Given the description of an element on the screen output the (x, y) to click on. 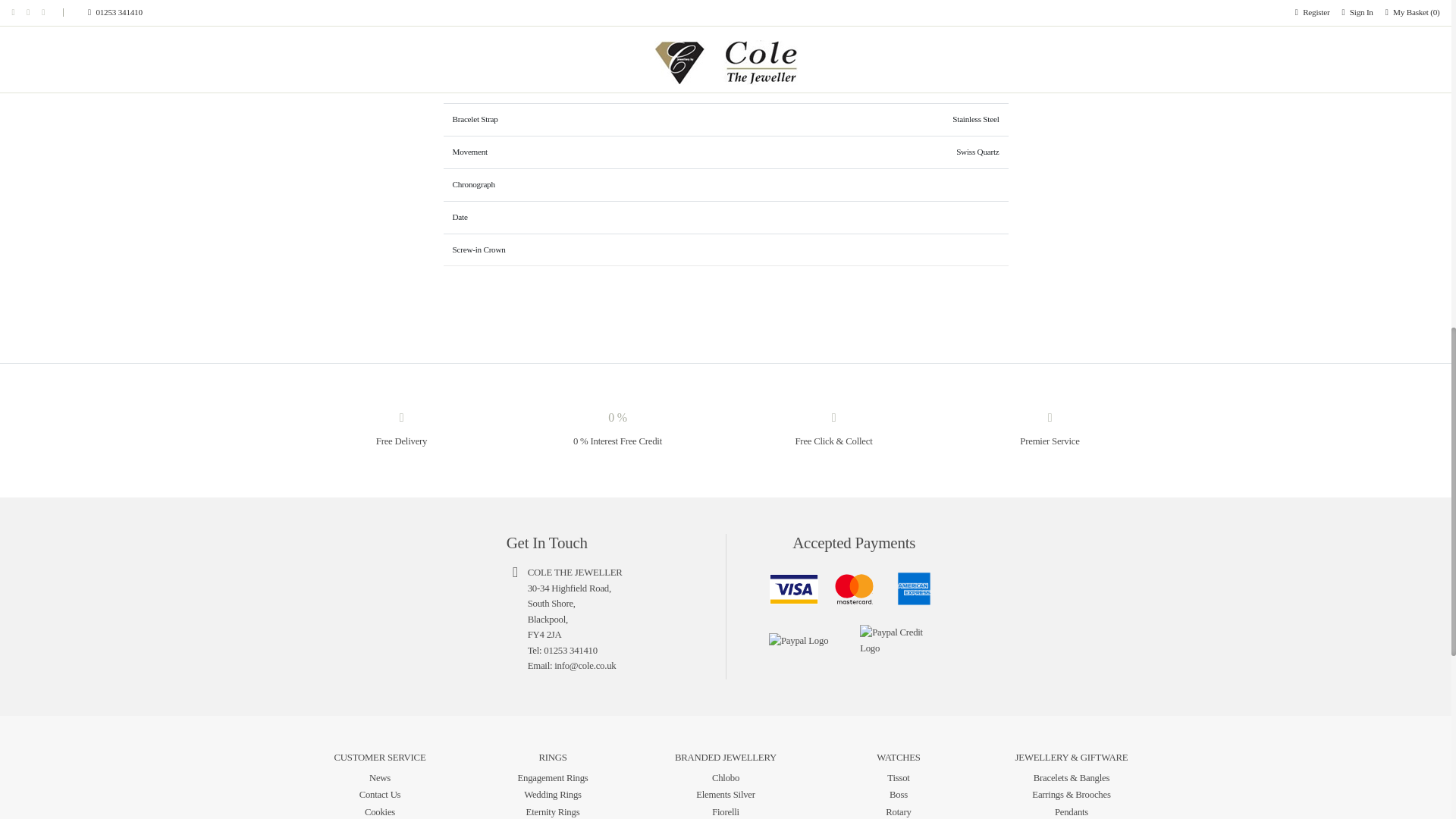
Contact Us (380, 794)
Wedding Rings (552, 794)
Elements Silver (725, 794)
Cookies (379, 811)
Engagement Rings (552, 777)
Eternity Rings (552, 811)
Chlobo (725, 777)
Fiorelli (725, 811)
News (379, 777)
